Given the description of an element on the screen output the (x, y) to click on. 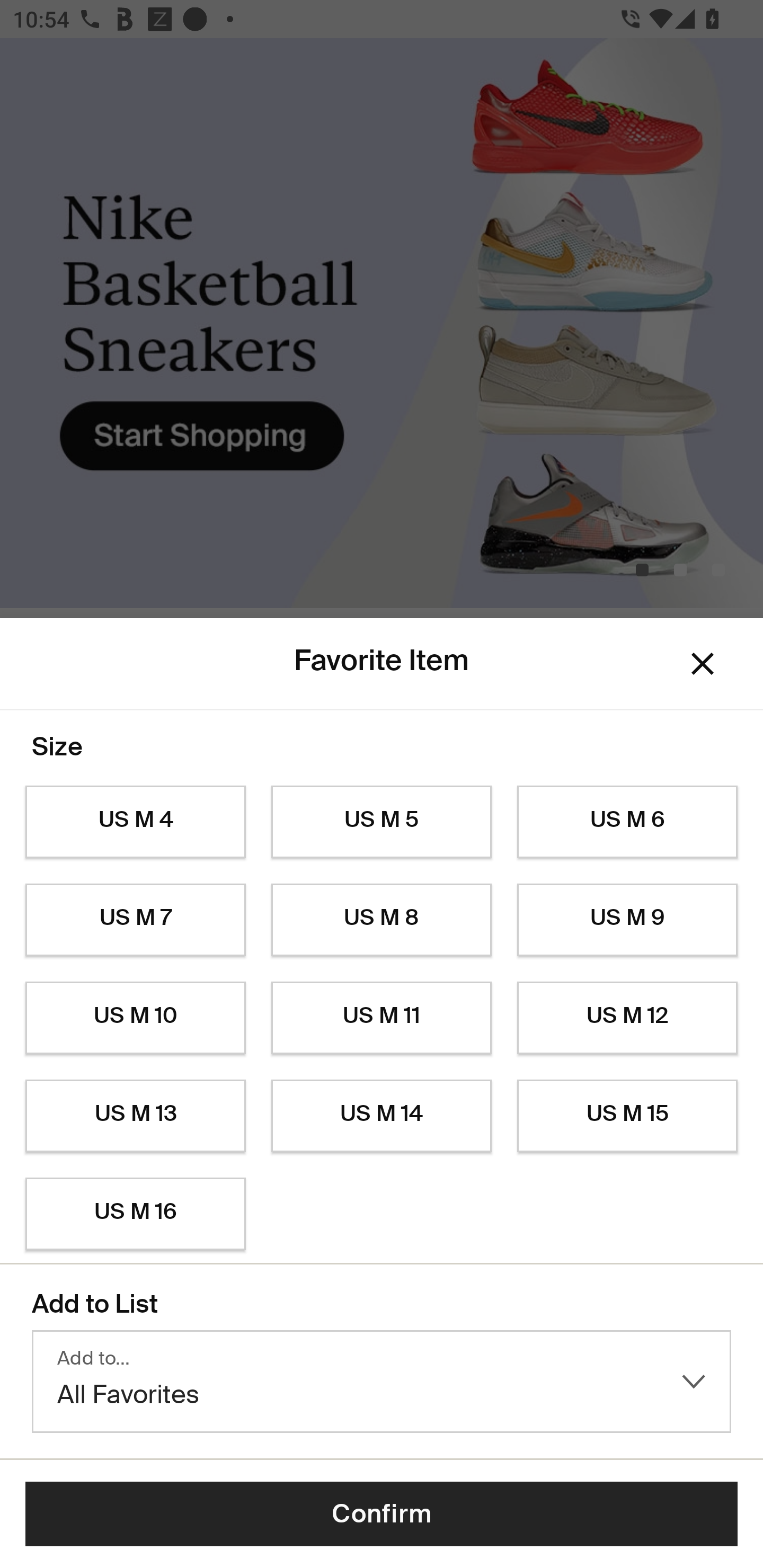
Dismiss (702, 663)
US M 4 (135, 822)
US M 5 (381, 822)
US M 6 (627, 822)
US M 7 (135, 919)
US M 8 (381, 919)
US M 9 (627, 919)
US M 10 (135, 1018)
US M 11 (381, 1018)
US M 12 (627, 1018)
US M 13 (135, 1116)
US M 14 (381, 1116)
US M 15 (627, 1116)
US M 16 (135, 1214)
Add to… All Favorites (381, 1381)
Confirm (381, 1513)
